Given the description of an element on the screen output the (x, y) to click on. 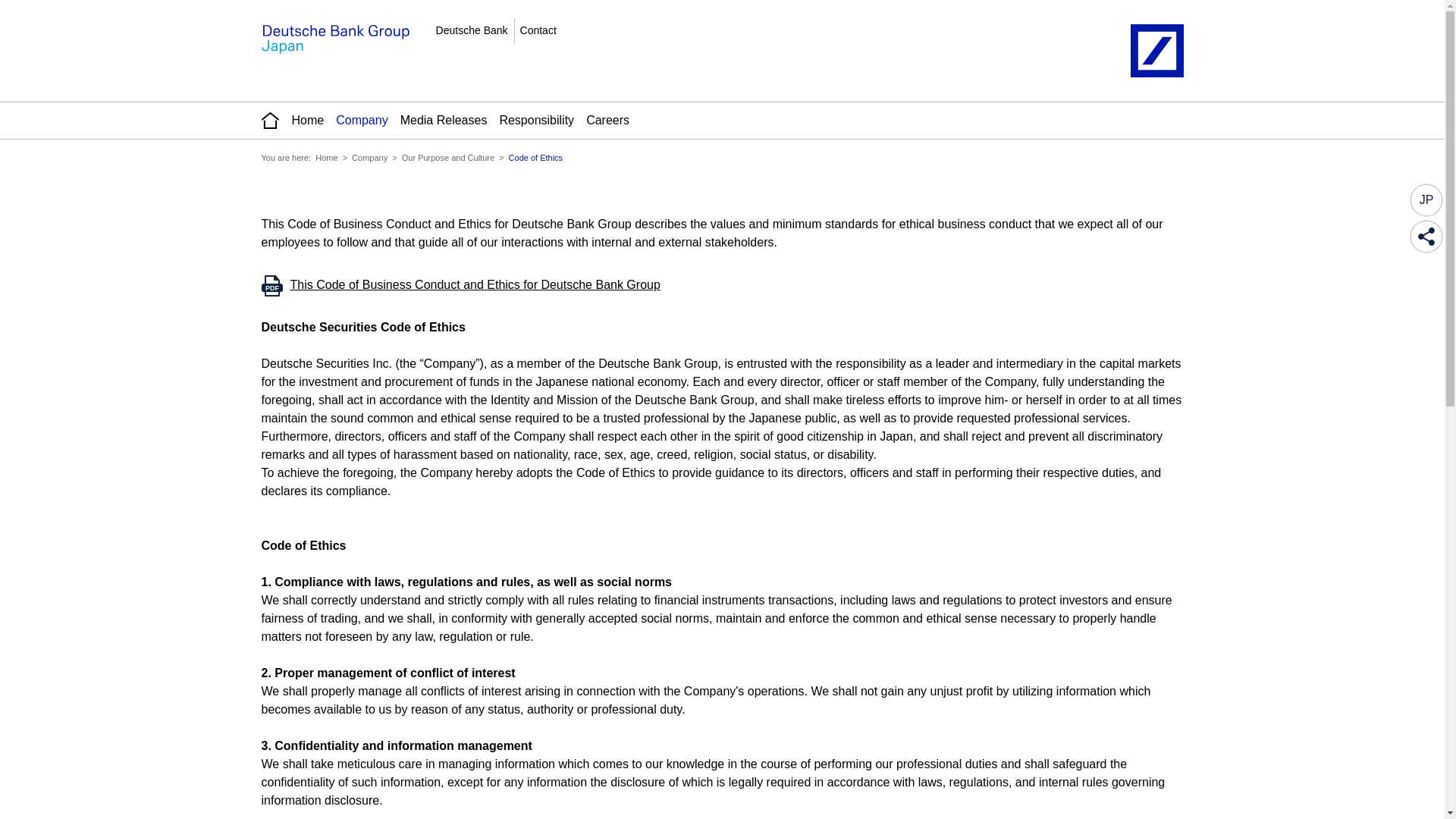
Home (326, 157)
Home (334, 39)
Deutsche Bank Logo (1155, 50)
Deutsche Bank (471, 30)
Contact (537, 30)
Our Purpose and Culture (448, 157)
Company (361, 120)
Responsibility (536, 120)
Deutsche Bank (471, 30)
